Given the description of an element on the screen output the (x, y) to click on. 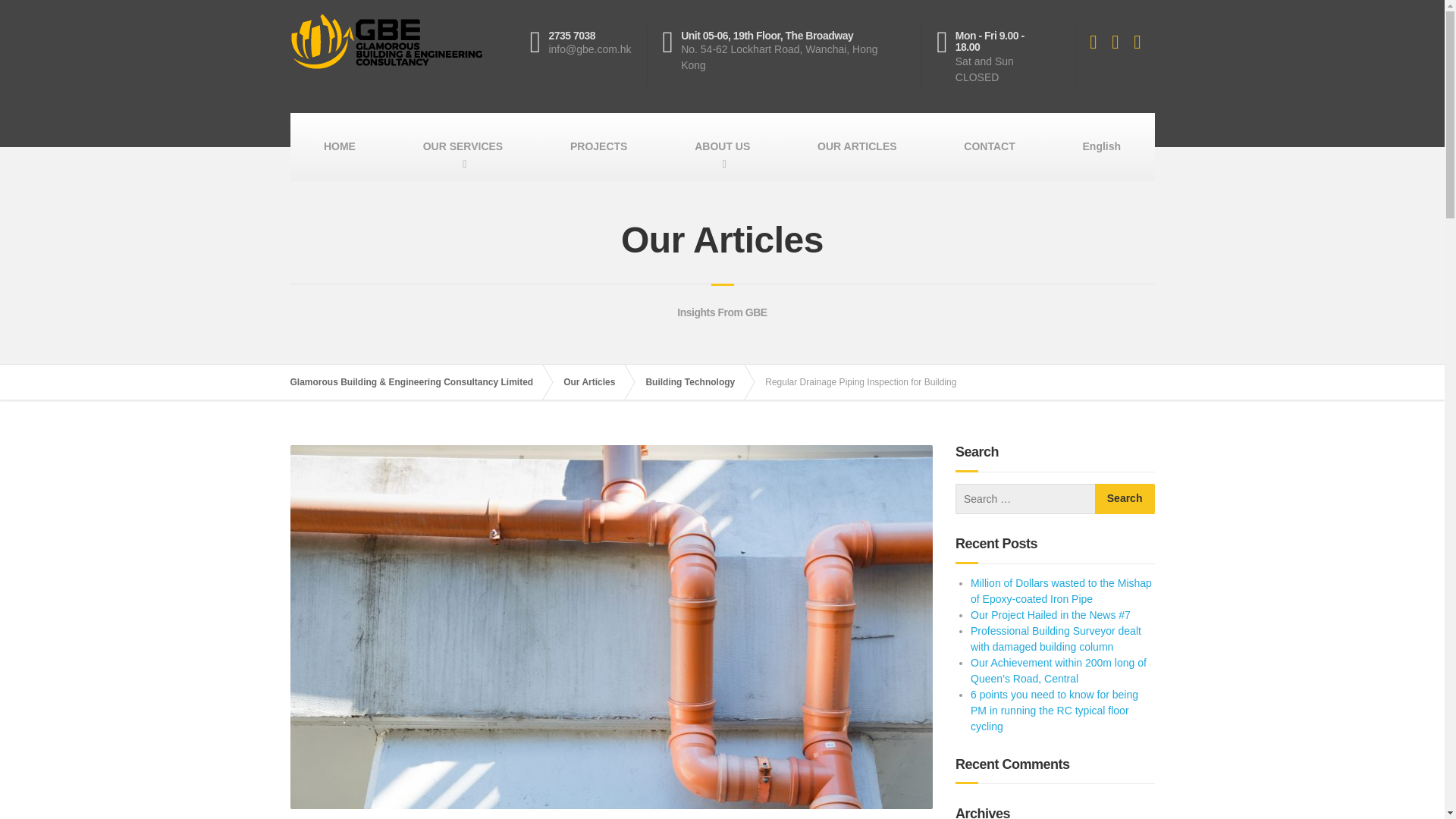
OUR SERVICES (461, 146)
Building Technology (697, 381)
English (1101, 146)
CONTACT (989, 146)
Our Articles (596, 381)
Search (1124, 499)
Search (1124, 499)
Go to the Building Technology Category archives. (697, 381)
Go to Our Articles. (596, 381)
English (1101, 146)
